Given the description of an element on the screen output the (x, y) to click on. 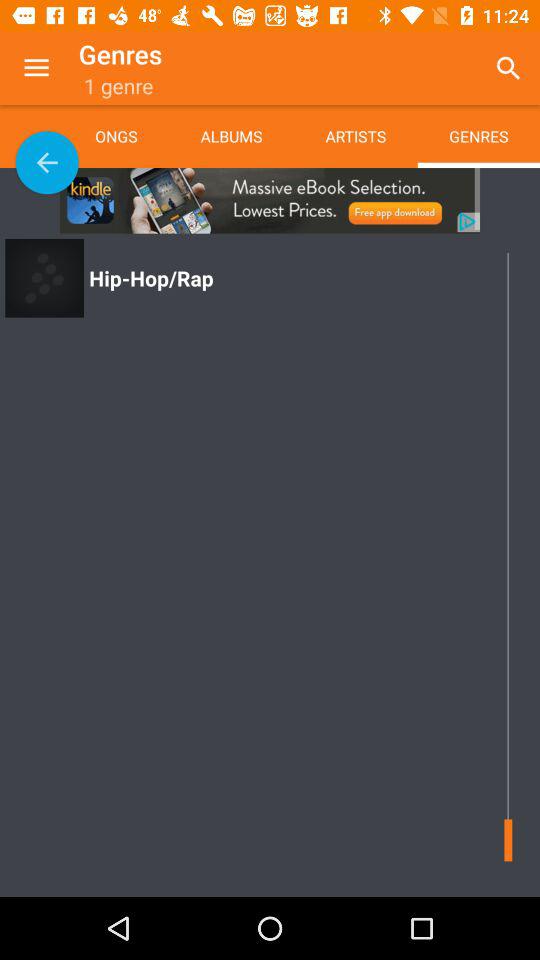
tap app next to the songs icon (231, 136)
